Given the description of an element on the screen output the (x, y) to click on. 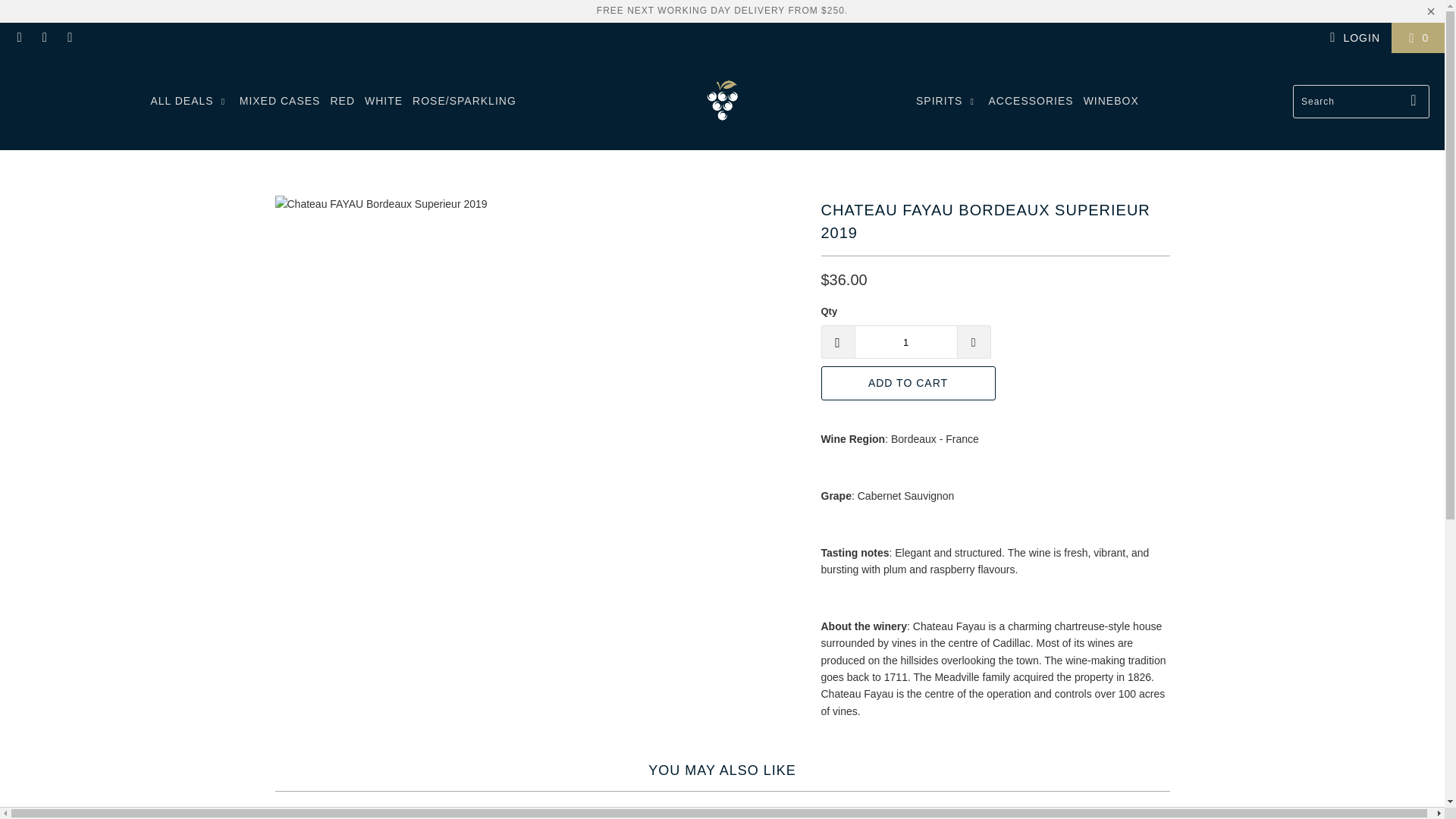
WineFamily on Facebook (18, 37)
WineFamily (721, 101)
WineFamily on Instagram (43, 37)
1 (904, 341)
Email WineFamily (69, 37)
My Account  (1352, 37)
